Given the description of an element on the screen output the (x, y) to click on. 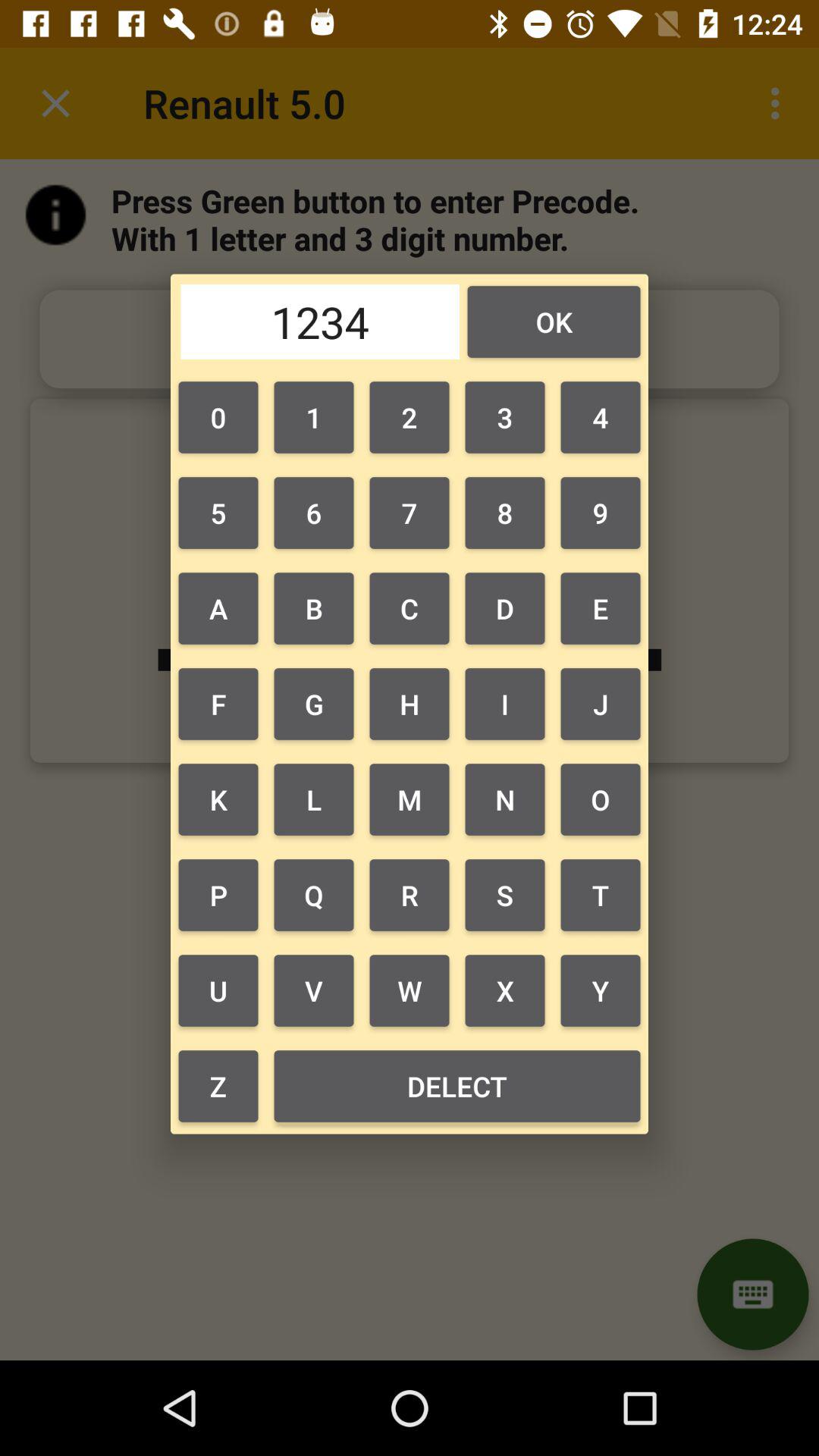
click the o item (600, 799)
